Given the description of an element on the screen output the (x, y) to click on. 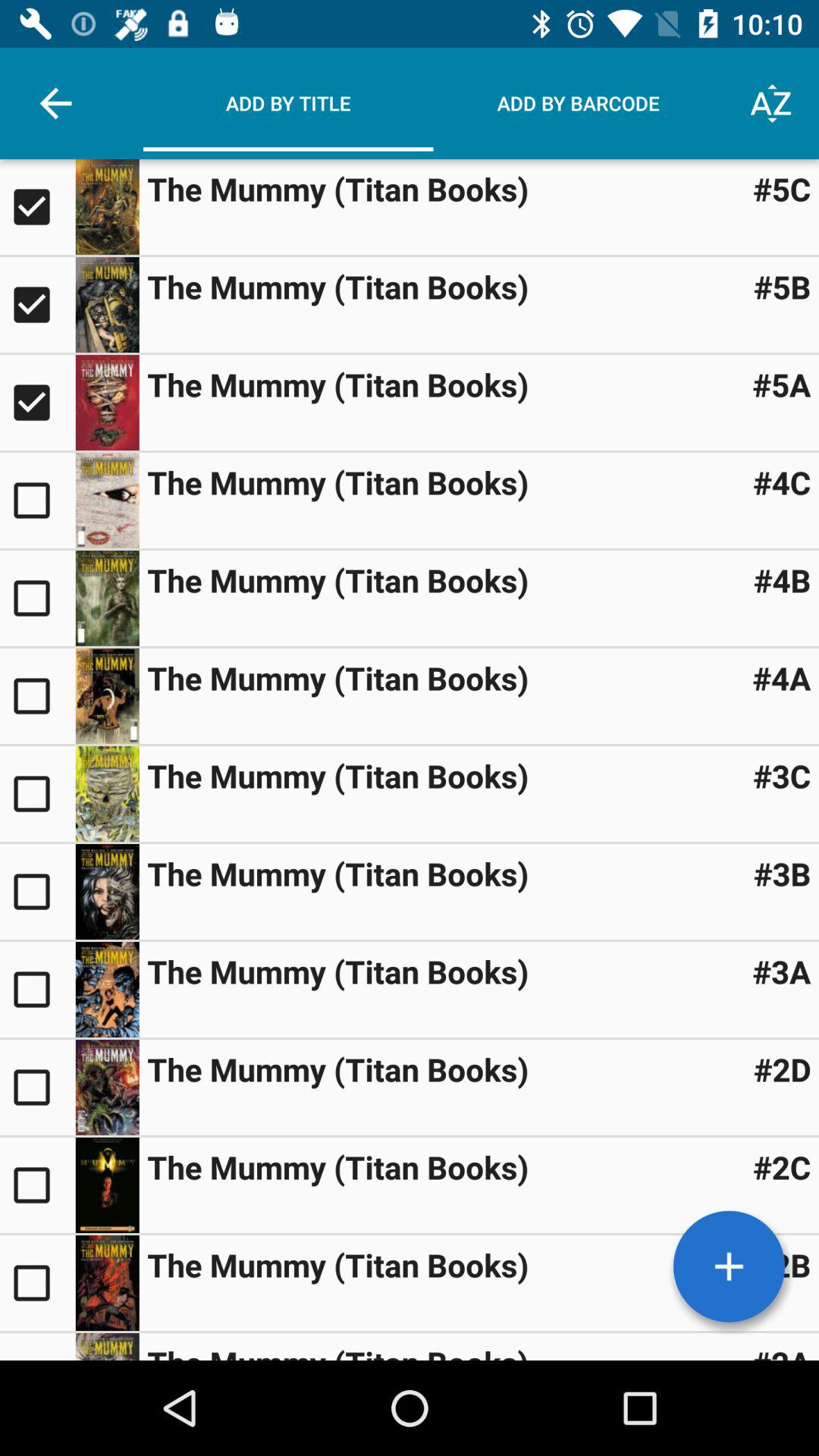
add titles (729, 1266)
